Given the description of an element on the screen output the (x, y) to click on. 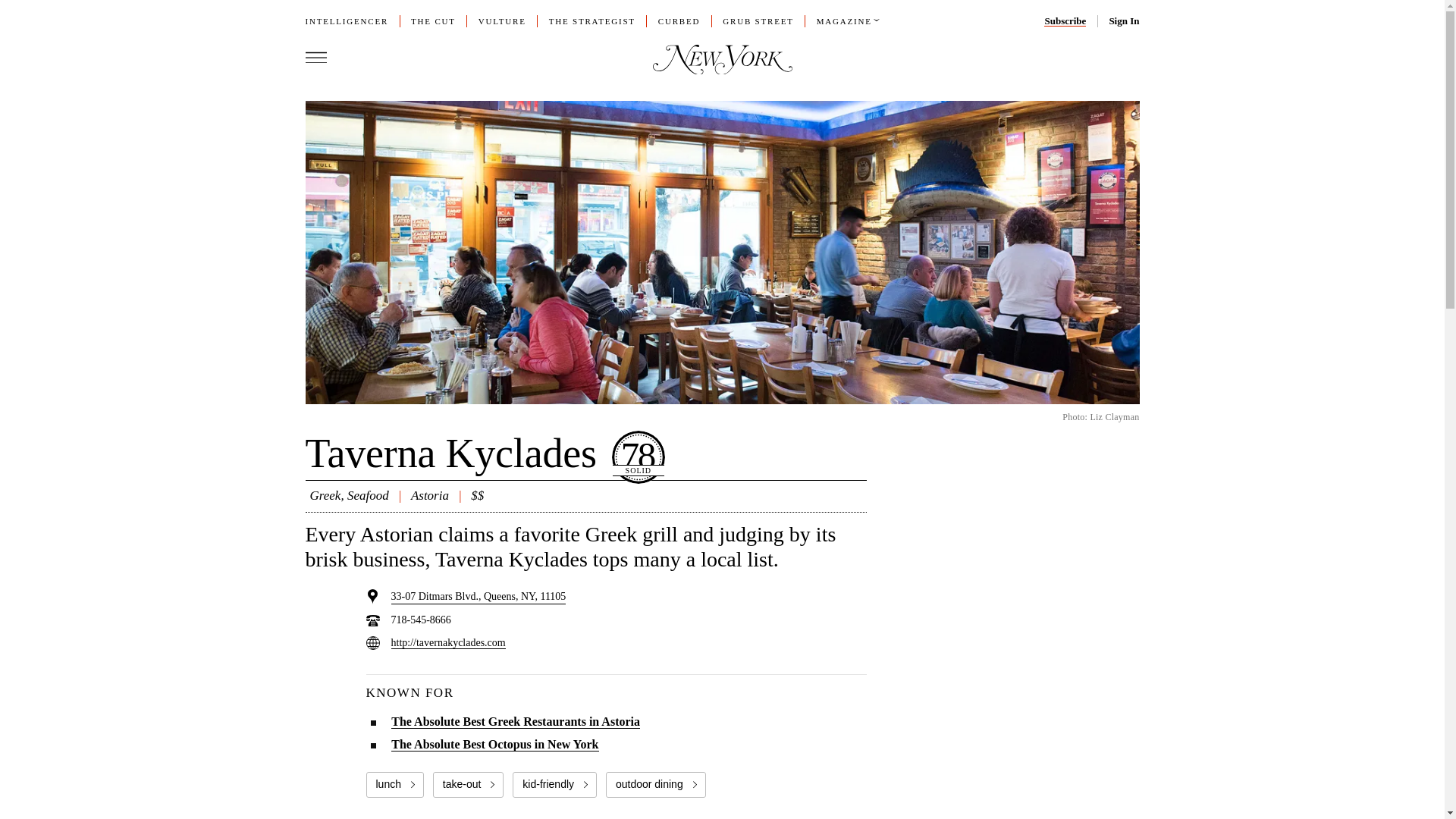
CURBED (679, 20)
THE STRATEGIST (591, 20)
THE CUT (432, 20)
Subscribe (1064, 20)
Menu (315, 56)
Sign In (1123, 20)
INTELLIGENCER (346, 20)
VULTURE (502, 20)
MAGAZINE (844, 20)
GRUB STREET (757, 20)
